Given the description of an element on the screen output the (x, y) to click on. 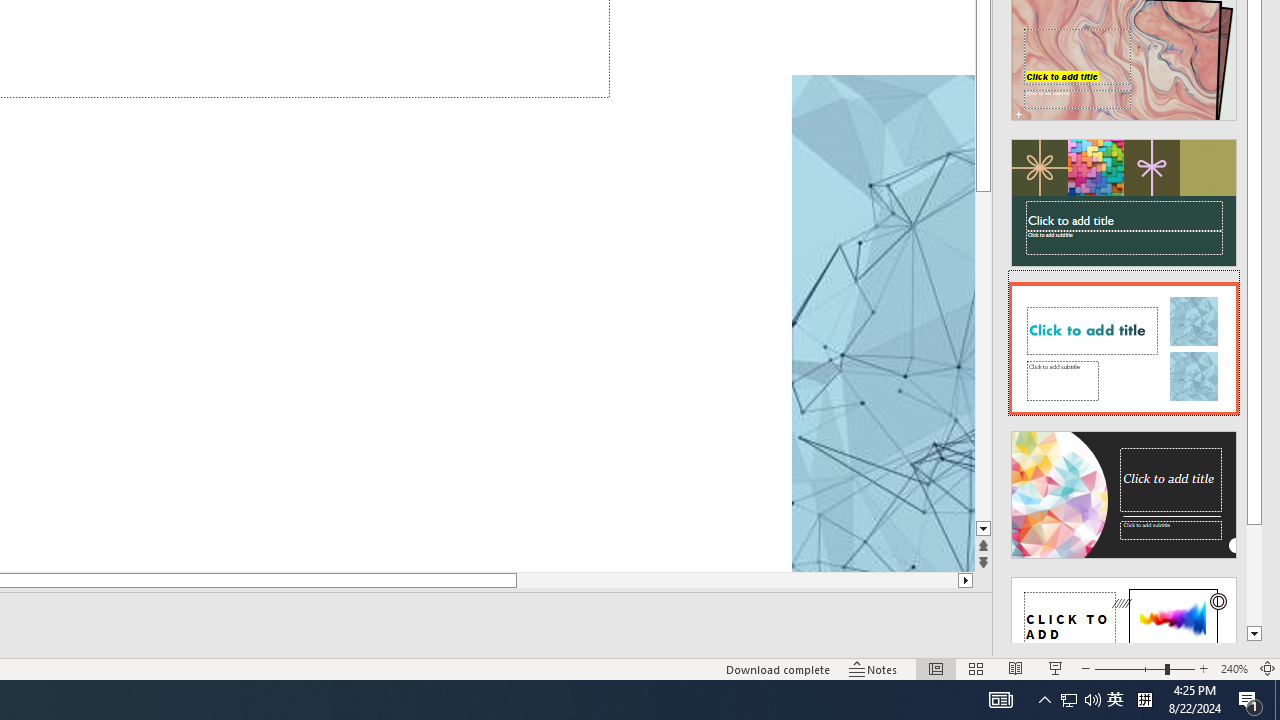
Design Idea (1124, 634)
Download complete  (778, 668)
Zoom 240% (1234, 668)
